Given the description of an element on the screen output the (x, y) to click on. 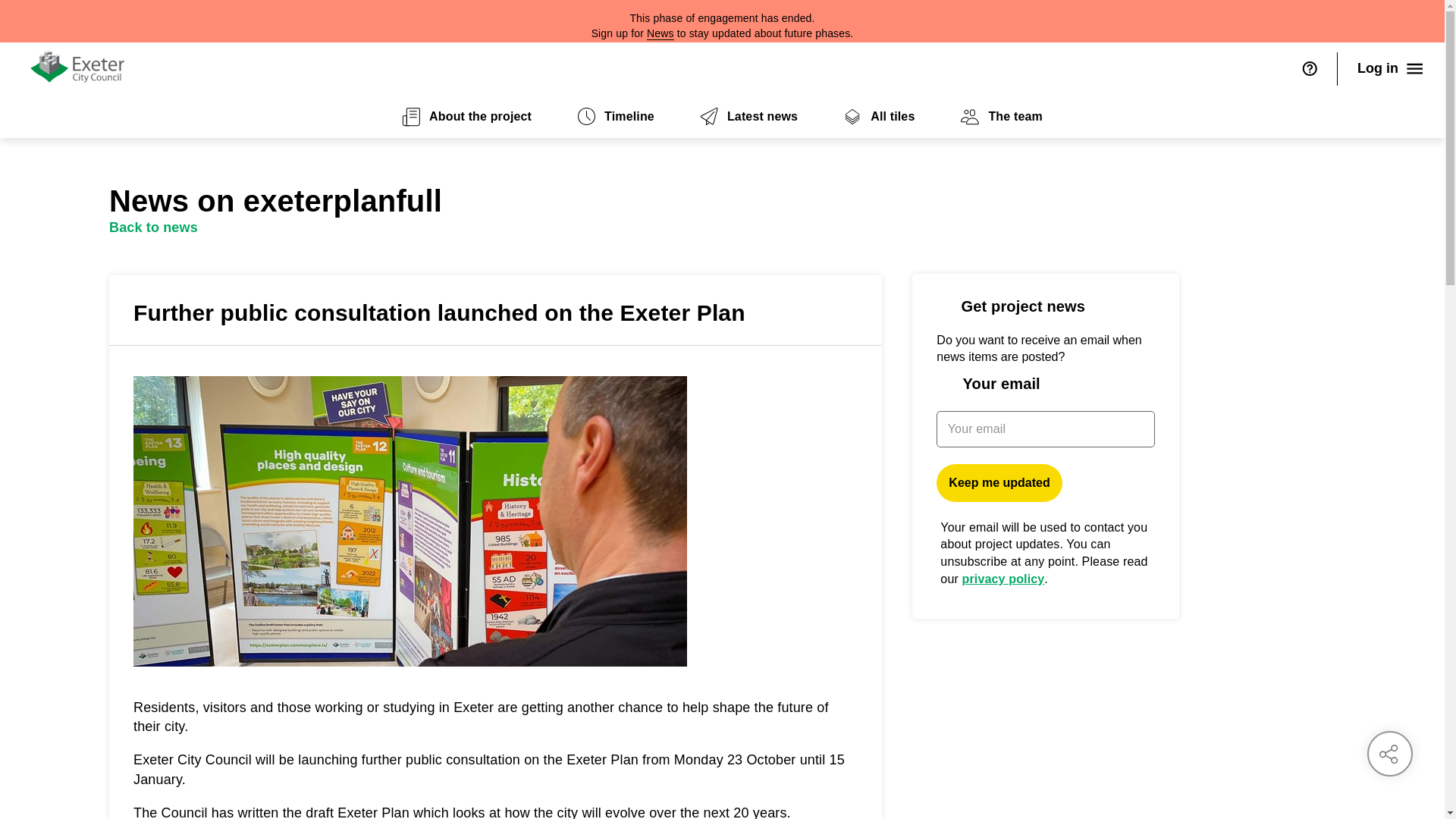
Timeline (615, 116)
All tiles (878, 116)
About the project (466, 116)
privacy policy (1003, 578)
Back to news (153, 227)
Keep me updated (998, 483)
Log in (1390, 68)
The team (1000, 116)
News (660, 33)
Latest news (748, 116)
